Given the description of an element on the screen output the (x, y) to click on. 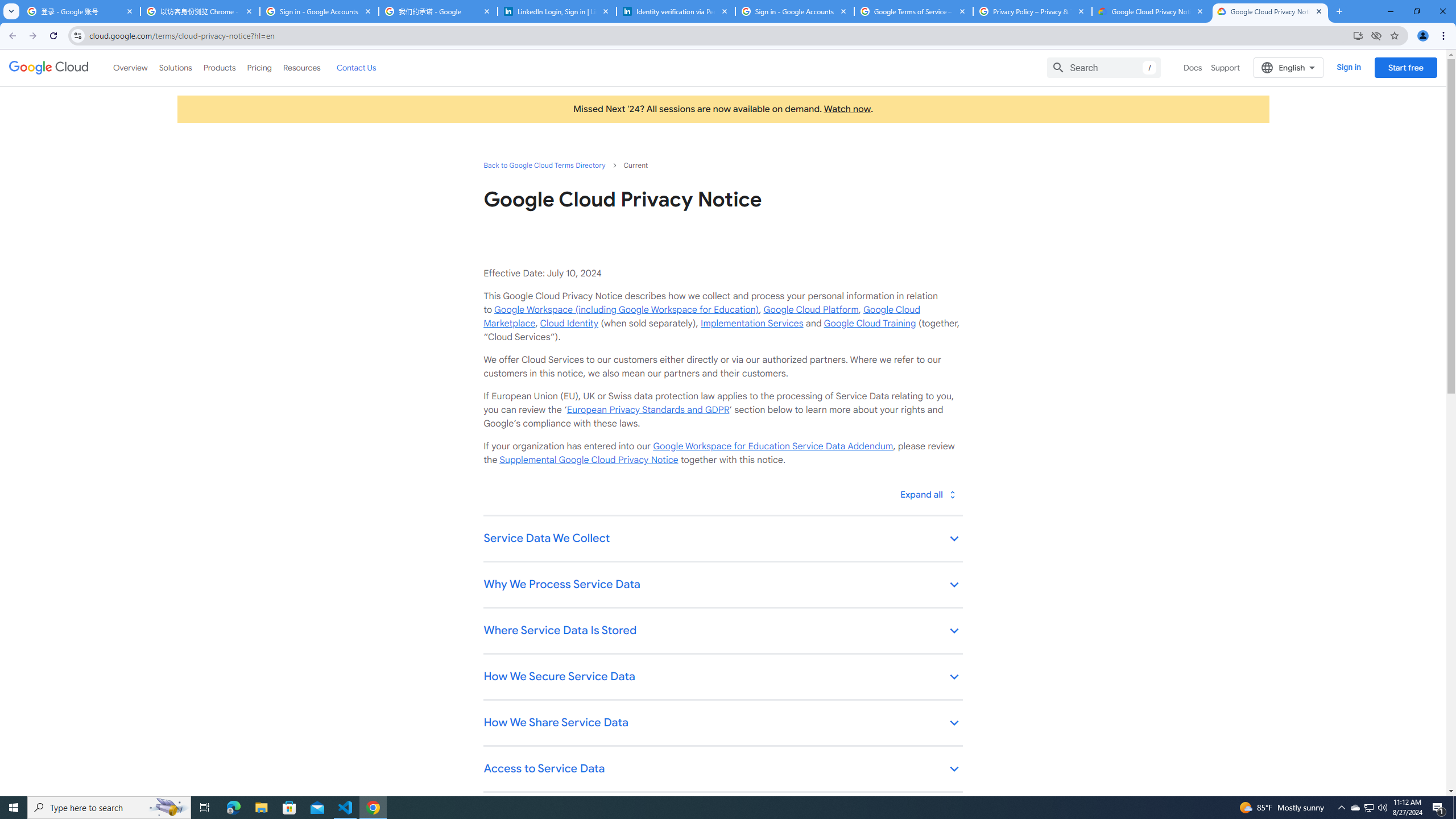
Install Google Cloud (1358, 35)
Google Cloud (48, 67)
European Privacy Standards and GDPR (647, 410)
Google Cloud Platform (810, 309)
Watch now (847, 108)
